Given the description of an element on the screen output the (x, y) to click on. 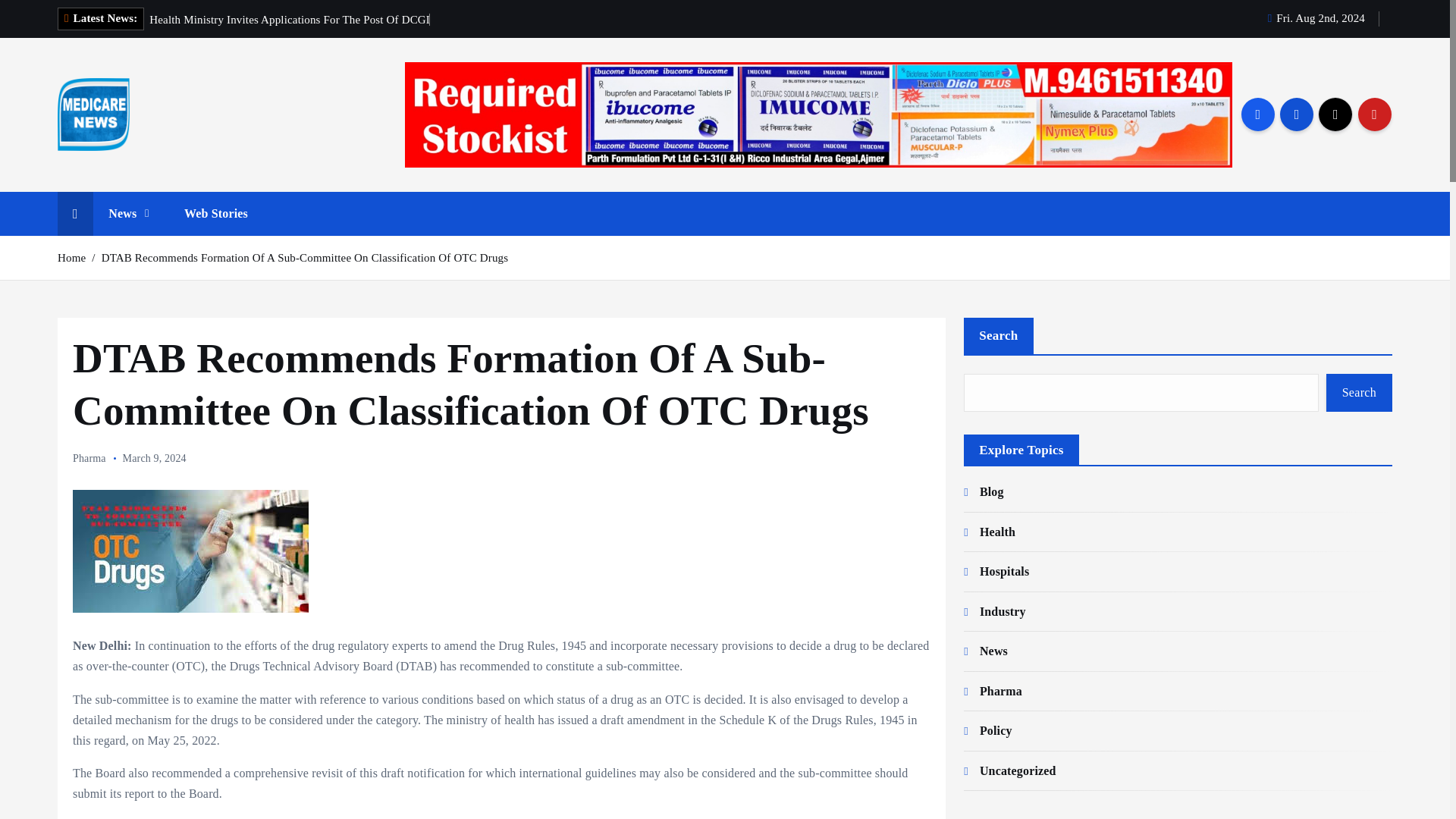
Web Stories (215, 213)
Web Stories (215, 213)
News (128, 213)
News (128, 213)
